Given the description of an element on the screen output the (x, y) to click on. 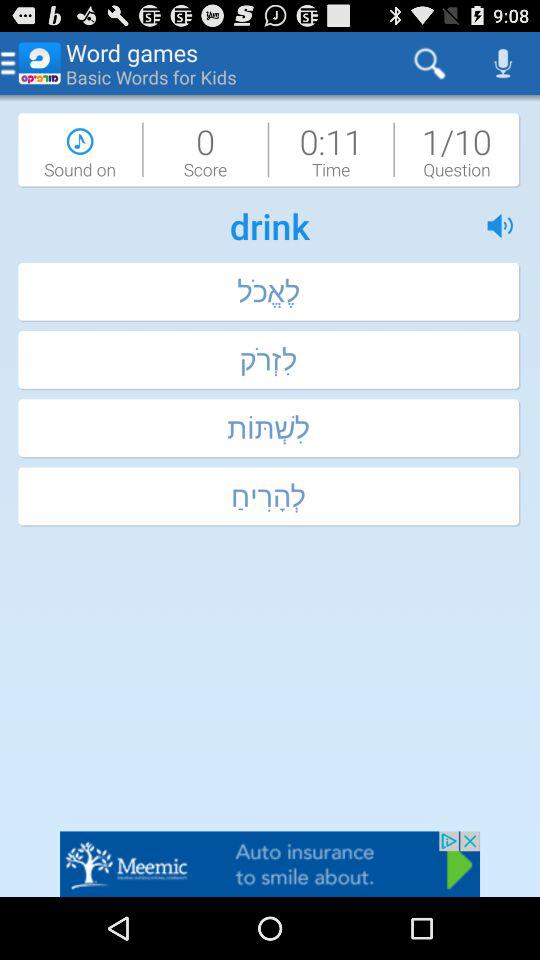
add banner (270, 864)
